Given the description of an element on the screen output the (x, y) to click on. 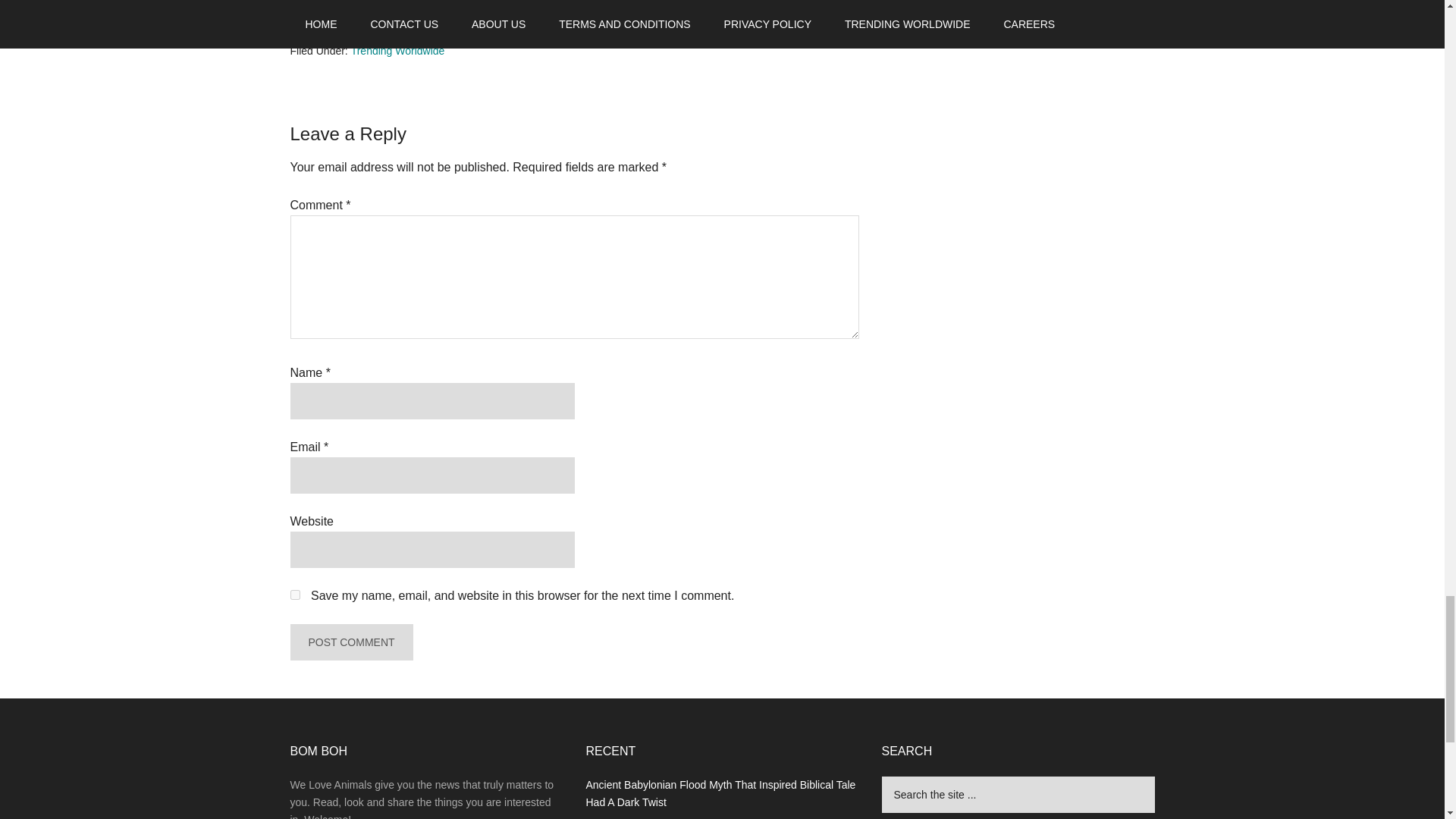
Trending Worldwide (397, 50)
yes (294, 594)
Post Comment (350, 642)
Post Comment (350, 642)
